Given the description of an element on the screen output the (x, y) to click on. 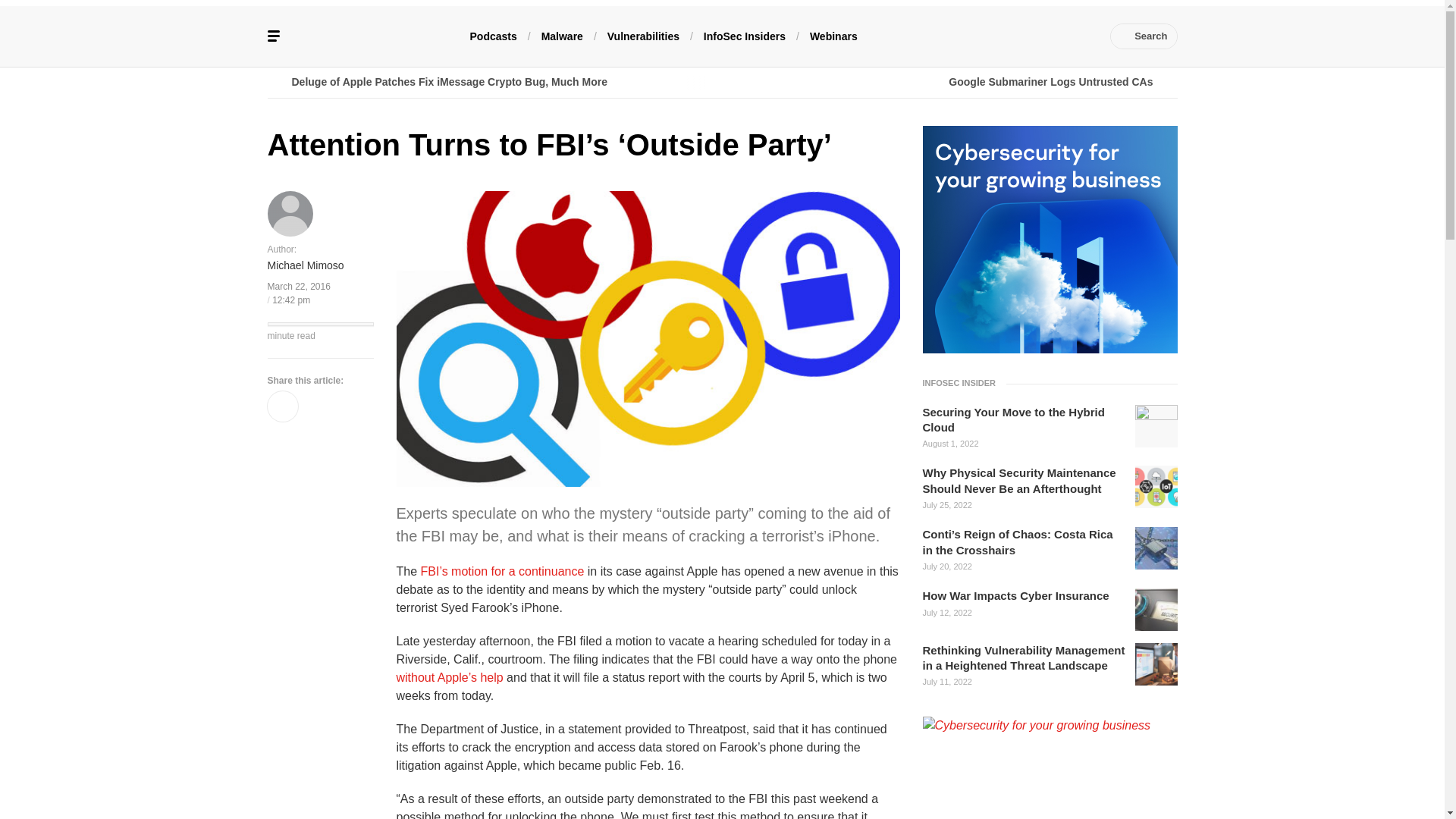
Search (1143, 36)
Google Submariner Logs Untrusted CAs (949, 82)
Instagram (1057, 36)
Malware (562, 35)
Deluge of Apple Patches Fix iMessage Crypto Bug, Much More (494, 82)
LinkedIn (989, 36)
Securing Your Move to the Hybrid Cloud (1023, 419)
Podcasts (493, 35)
InfoSec Insiders (744, 35)
Feedly (1034, 36)
